Given the description of an element on the screen output the (x, y) to click on. 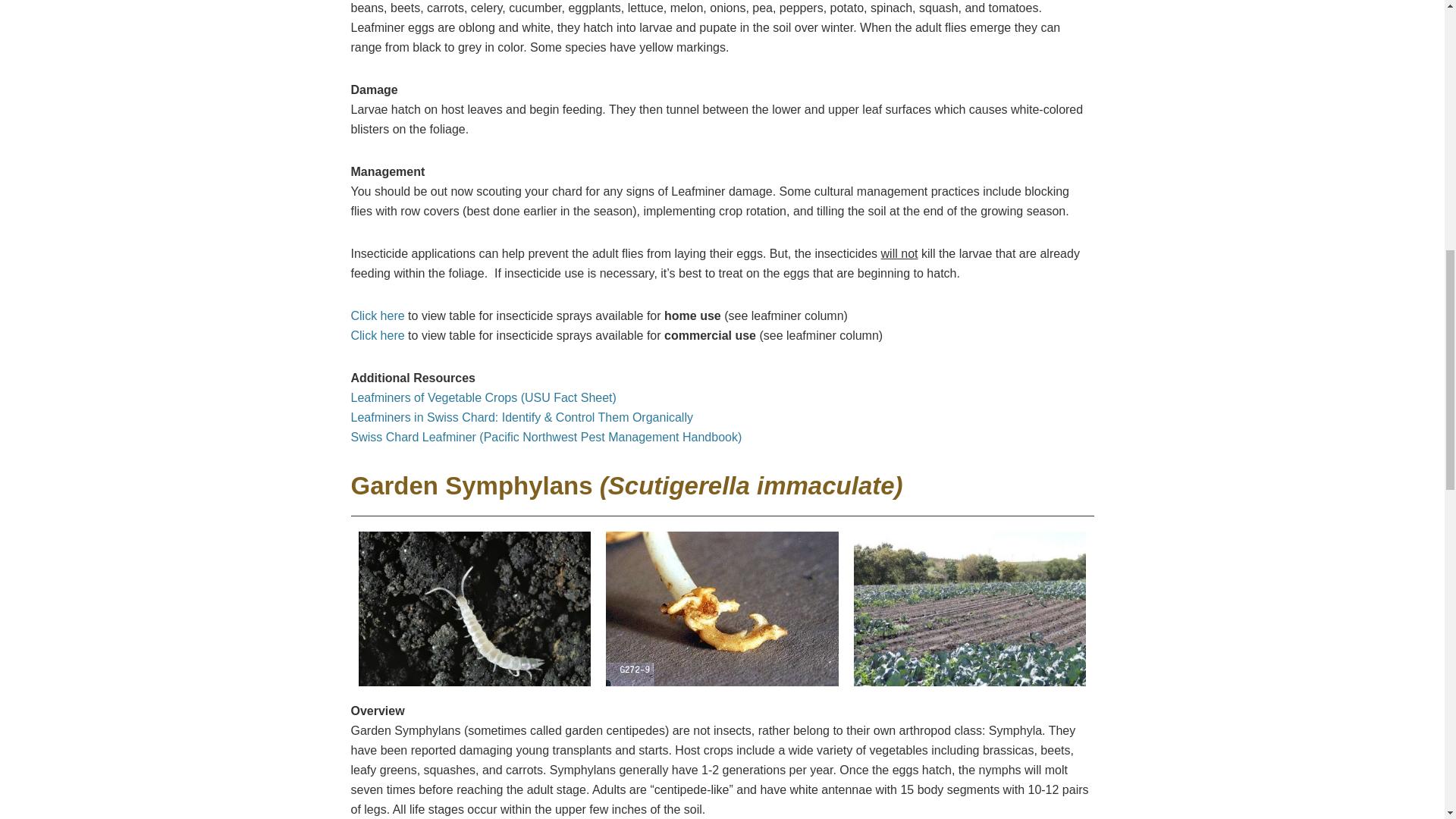
Click here (377, 317)
Click here (377, 336)
